Given the description of an element on the screen output the (x, y) to click on. 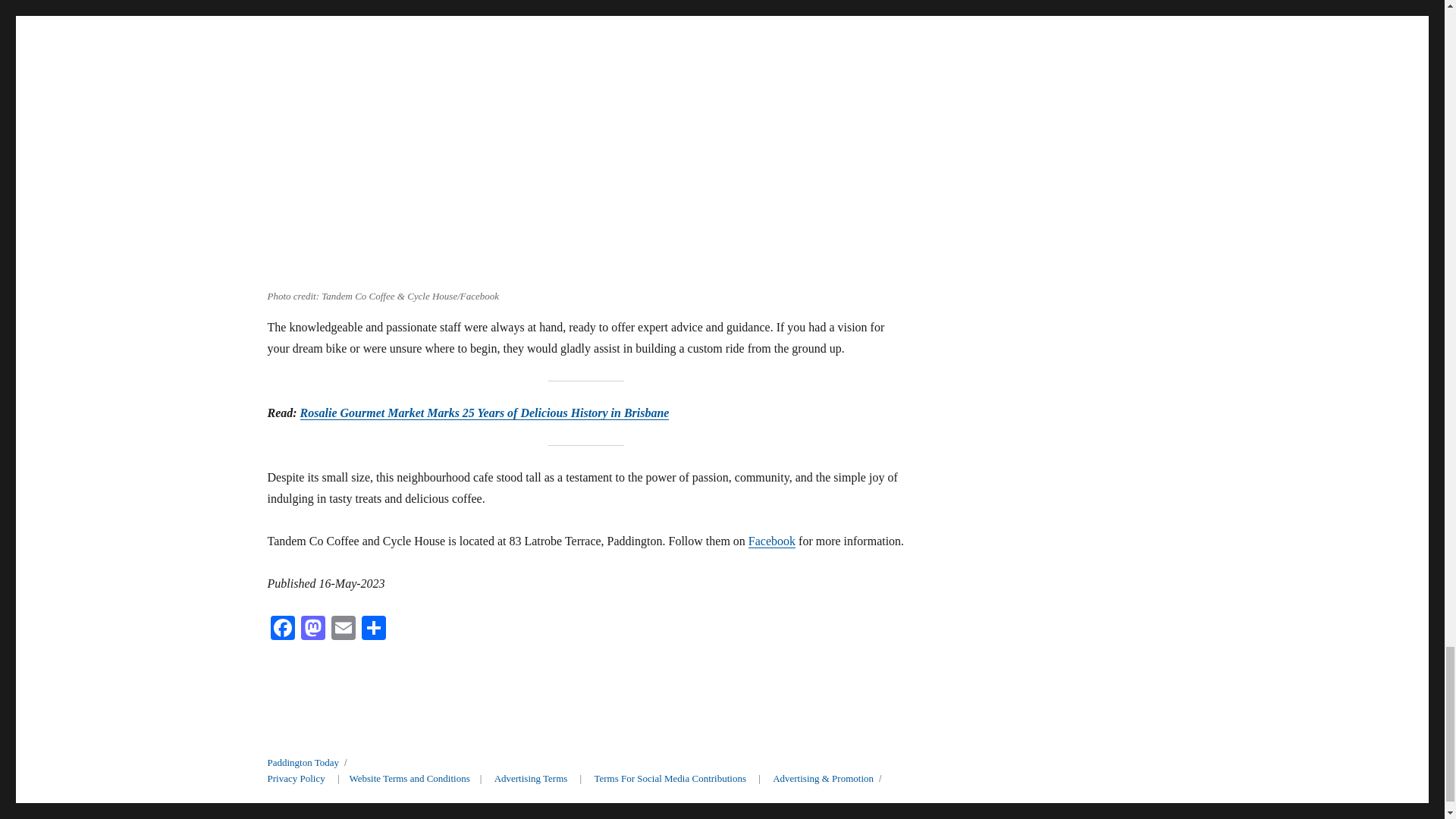
Email (342, 629)
Privacy Policy (295, 778)
Facebook (771, 540)
Paddington Today (302, 762)
Facebook (281, 629)
Mastodon (312, 629)
Facebook (281, 629)
Email (342, 629)
Mastodon (312, 629)
Advertising Terms (531, 778)
Website Terms and Conditions (409, 778)
